Given the description of an element on the screen output the (x, y) to click on. 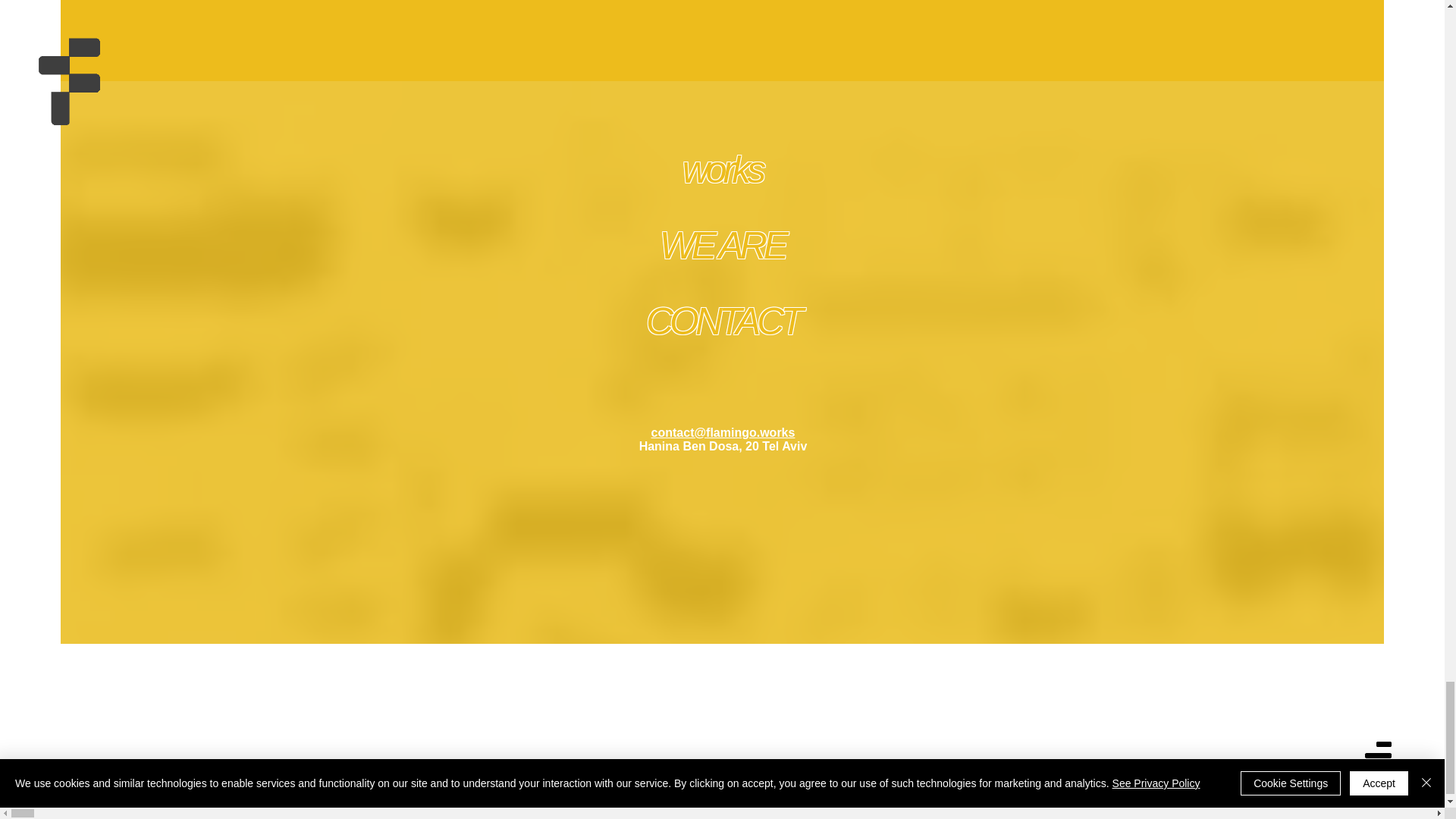
works (722, 169)
CONTACT (722, 321)
WE ARE (721, 245)
